Given the description of an element on the screen output the (x, y) to click on. 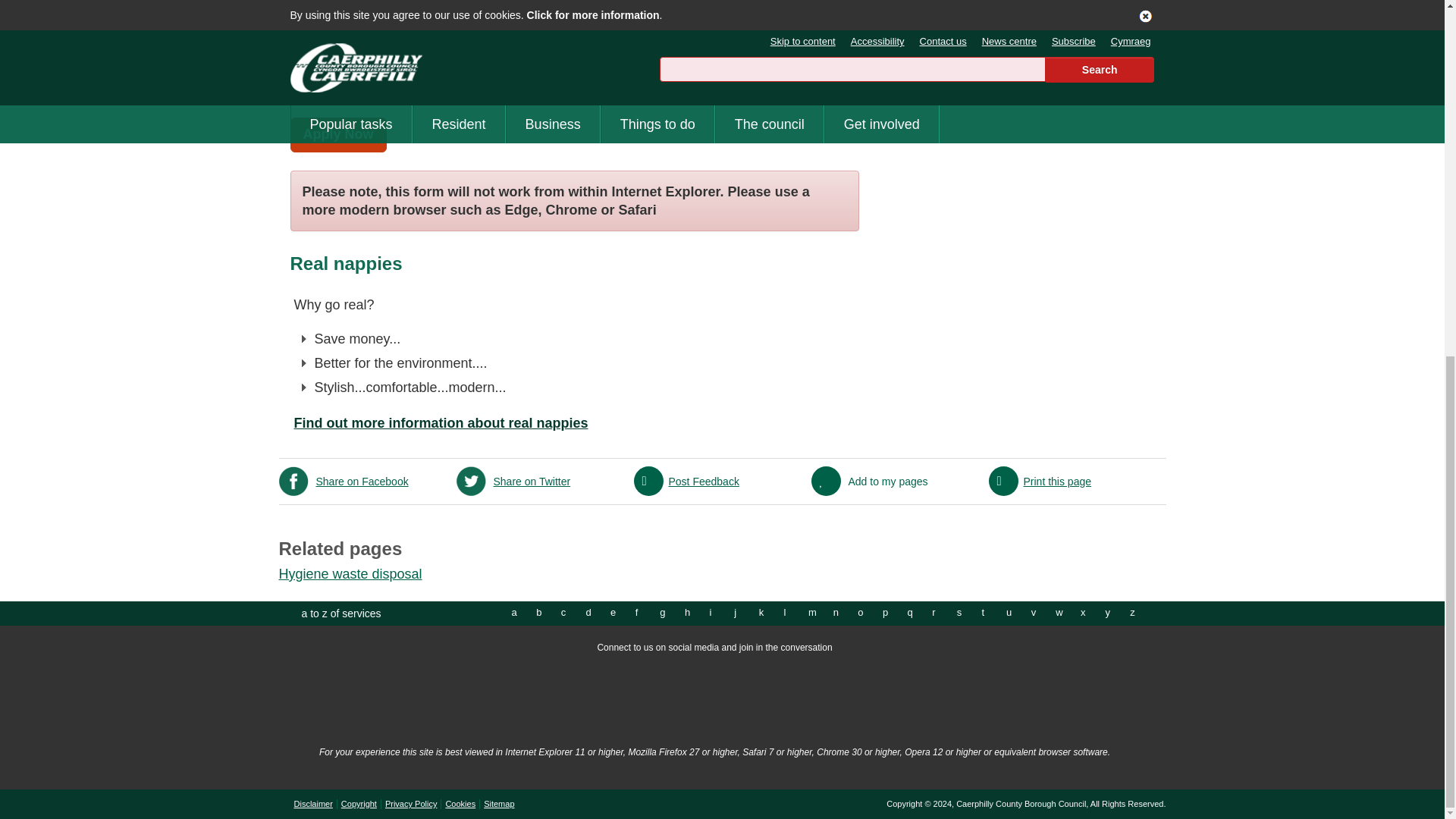
Apply Now (337, 134)
My Map page (890, 695)
